Given the description of an element on the screen output the (x, y) to click on. 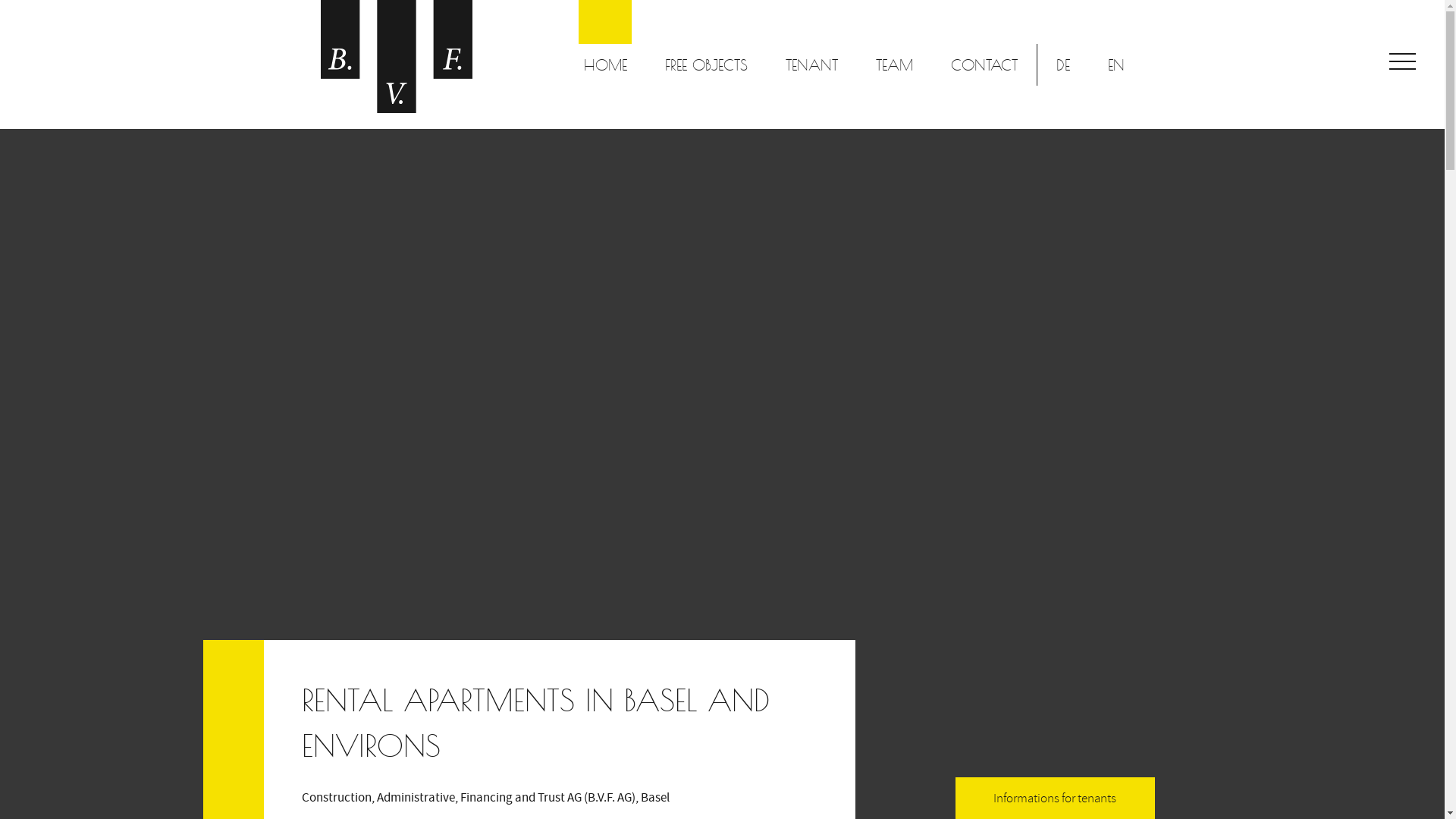
EN Element type: text (1115, 64)
HOME Element type: text (604, 64)
DE Element type: text (1062, 64)
FREE OBJECTS Element type: text (706, 64)
TEAM Element type: text (893, 64)
CONTACT Element type: text (983, 64)
TENANT Element type: text (810, 64)
